Given the description of an element on the screen output the (x, y) to click on. 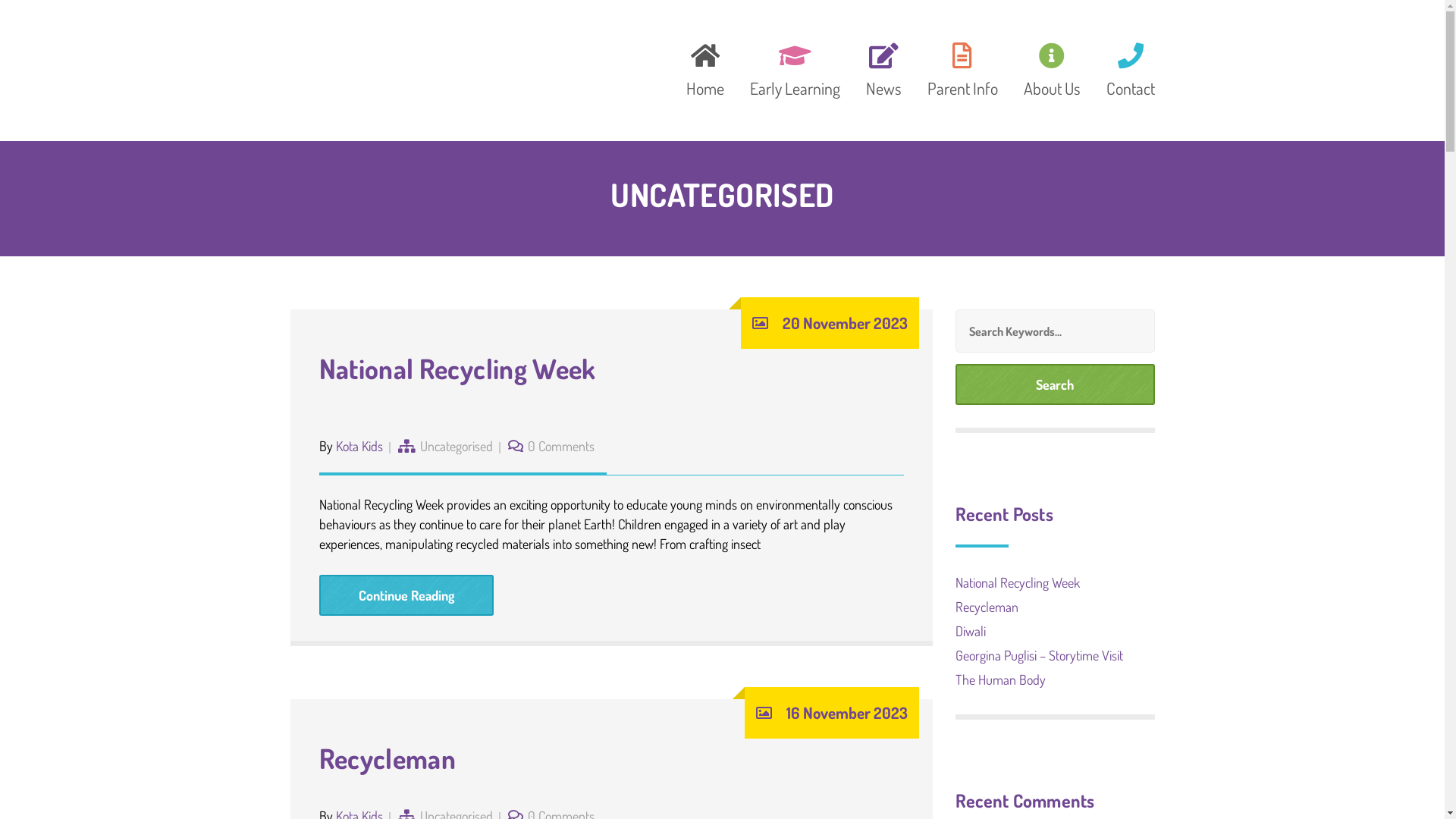
Search Element type: text (1054, 384)
Recycleman Element type: text (986, 606)
National Recycling Week Element type: text (1017, 582)
News Element type: text (882, 66)
Contact Element type: text (1124, 66)
The Human Body Element type: text (1000, 679)
0 Comments Element type: text (560, 445)
Kota Kids Element type: text (358, 445)
Parent Info Element type: text (962, 66)
Continue Reading Element type: text (405, 594)
Recycleman Element type: text (386, 757)
National Recycling Week Element type: text (456, 368)
Uncategorised Element type: text (456, 445)
Diwali Element type: text (970, 630)
Home Element type: text (704, 66)
Early Learning Element type: text (794, 66)
About Us Element type: text (1051, 66)
